Given the description of an element on the screen output the (x, y) to click on. 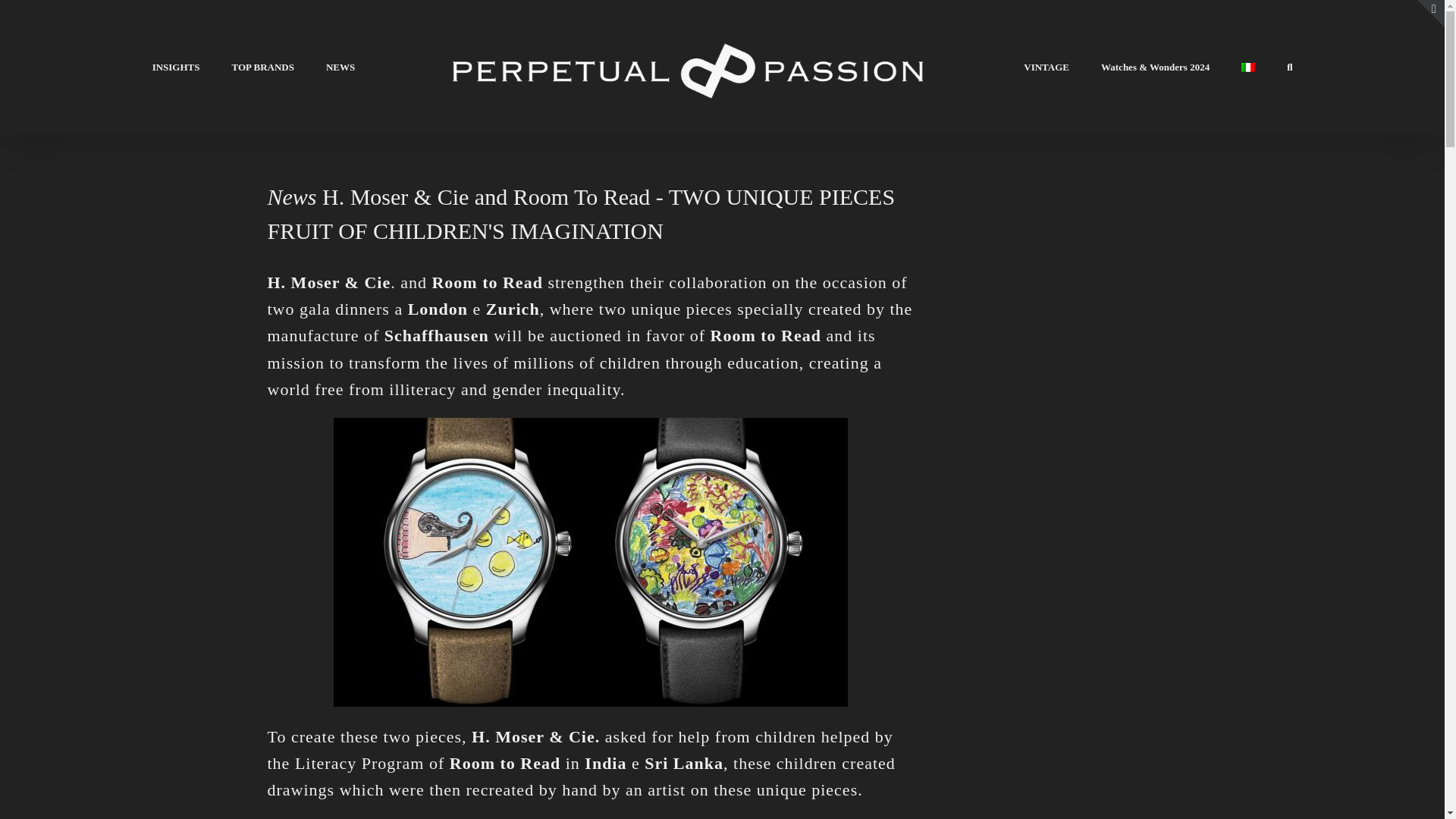
TOP BRANDS (262, 66)
Italian (1248, 66)
INSIGHTS (176, 66)
